Given the description of an element on the screen output the (x, y) to click on. 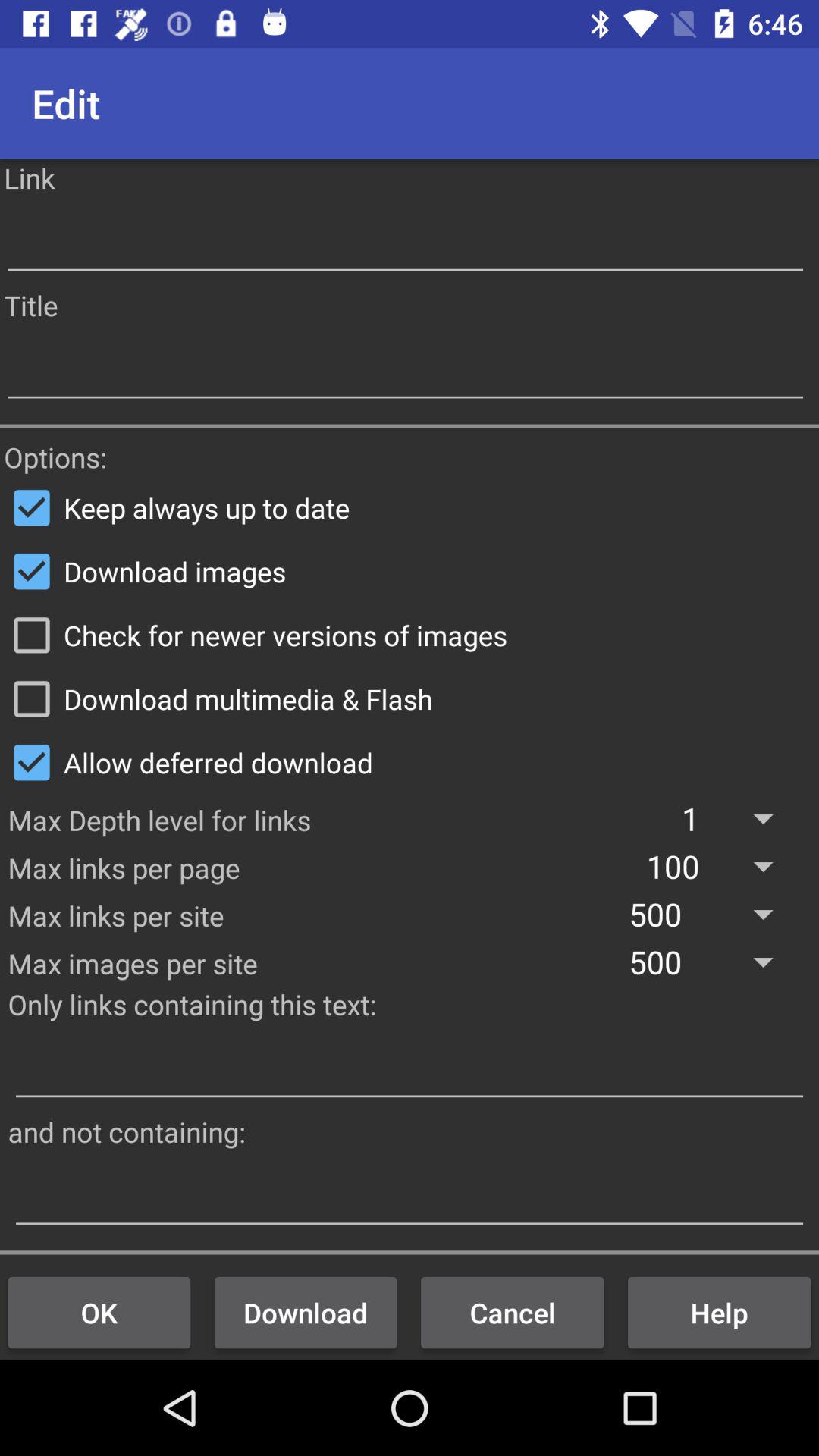
turn on the keep always up checkbox (409, 507)
